Given the description of an element on the screen output the (x, y) to click on. 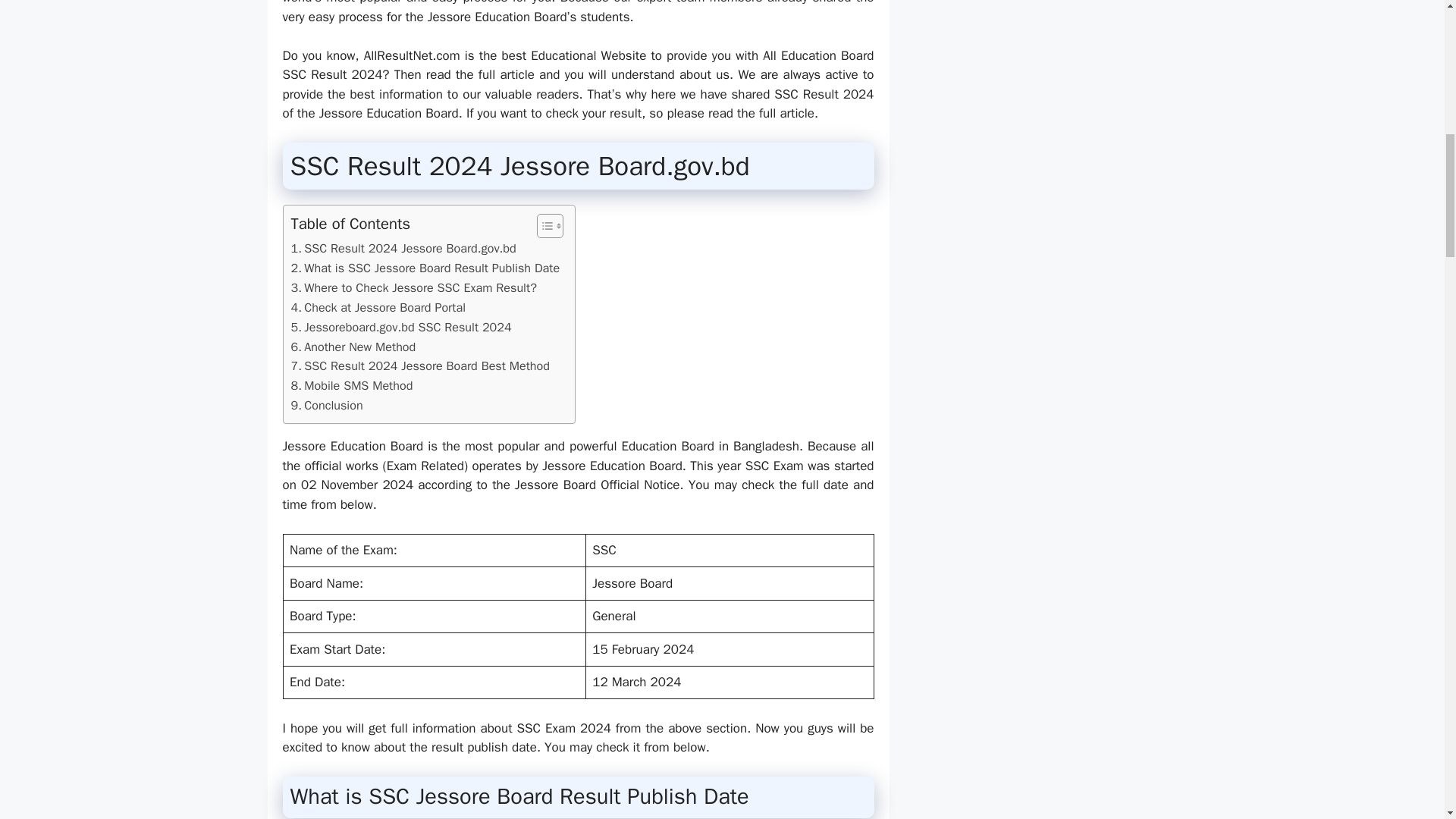
SSC Result 2024 Jessore Board Best Method (420, 365)
Where to Check Jessore SSC Exam Result? (414, 288)
Mobile SMS Method (352, 385)
Conclusion (326, 405)
Check at Jessore Board Portal (378, 307)
Mobile SMS Method (352, 385)
SSC Result 2024 Jessore Board.gov.bd (403, 248)
Another New Method (353, 347)
SSC Result 2024 Jessore Board.gov.bd (403, 248)
What is SSC Jessore Board Result Publish Date (425, 268)
Check at Jessore Board Portal (378, 307)
Conclusion (326, 405)
Jessoreboard.gov.bd SSC Result 2024 (401, 327)
Where to Check Jessore SSC Exam Result? (414, 288)
Jessoreboard.gov.bd SSC Result 2024 (401, 327)
